Given the description of an element on the screen output the (x, y) to click on. 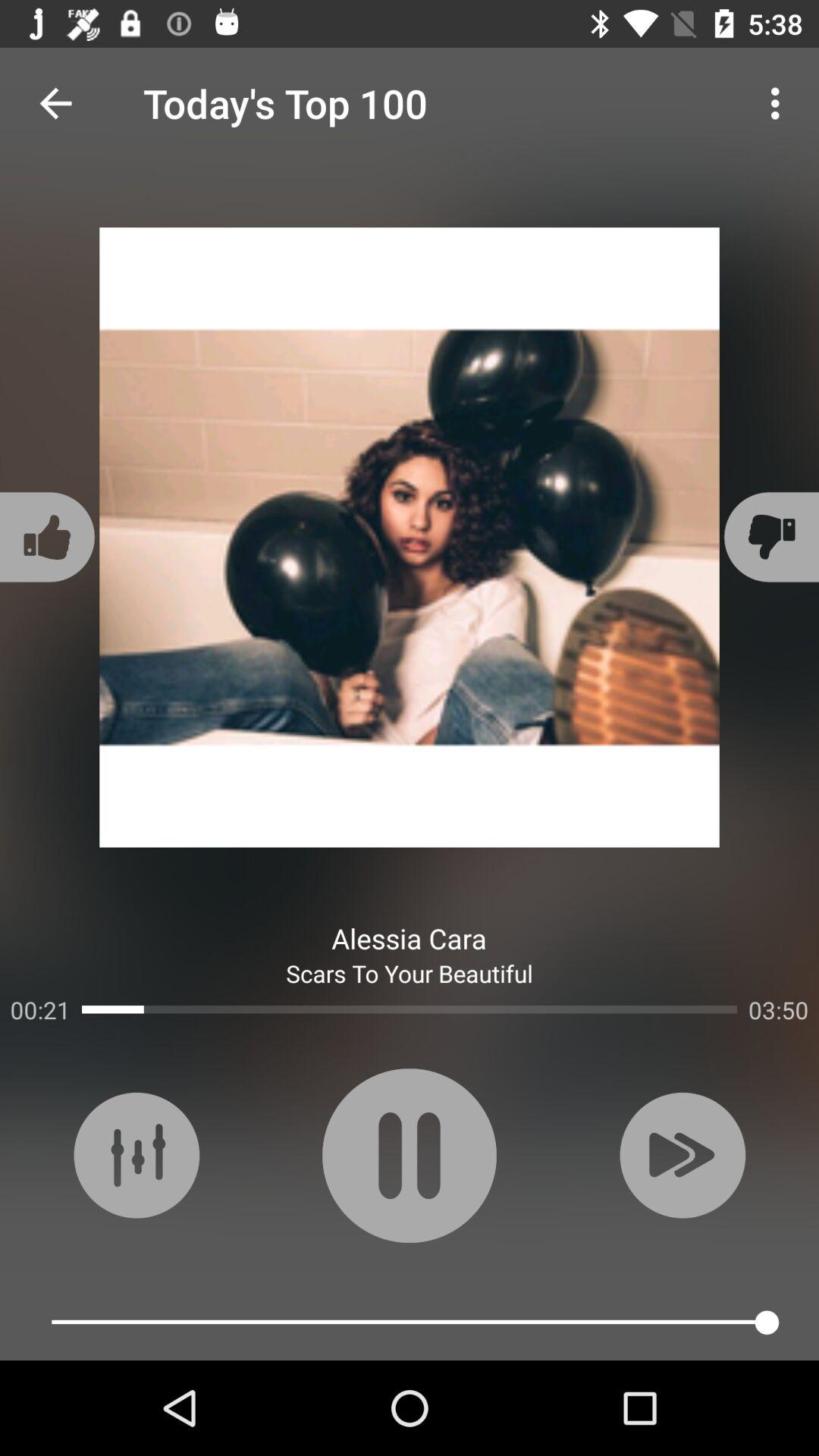
choose the item above the 03:50 (769, 536)
